Given the description of an element on the screen output the (x, y) to click on. 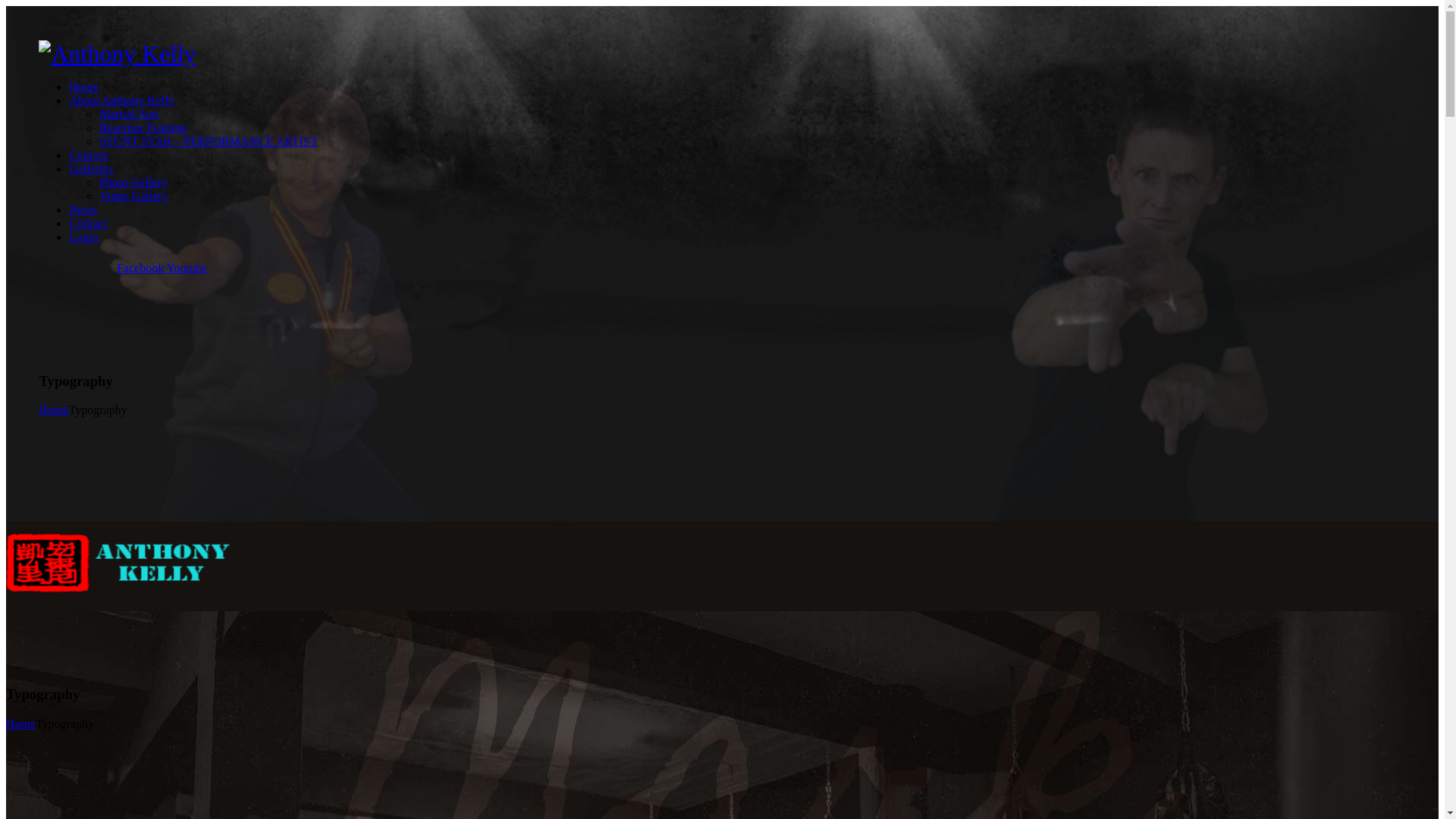
Home Element type: text (83, 86)
Contact Element type: text (87, 222)
Login Element type: text (83, 236)
Home Element type: text (53, 409)
Home Element type: text (20, 723)
Video Gallery Element type: text (133, 195)
Youtube Element type: text (186, 267)
Facebook Element type: text (141, 267)
Courses Element type: text (88, 154)
Photo Gallery Element type: text (132, 181)
News Element type: text (82, 209)
Galleries Element type: text (90, 168)
Reaction Training Element type: text (142, 127)
Martial Arts Element type: text (128, 113)
About Anthony Kelly Element type: text (121, 100)
